Given the description of an element on the screen output the (x, y) to click on. 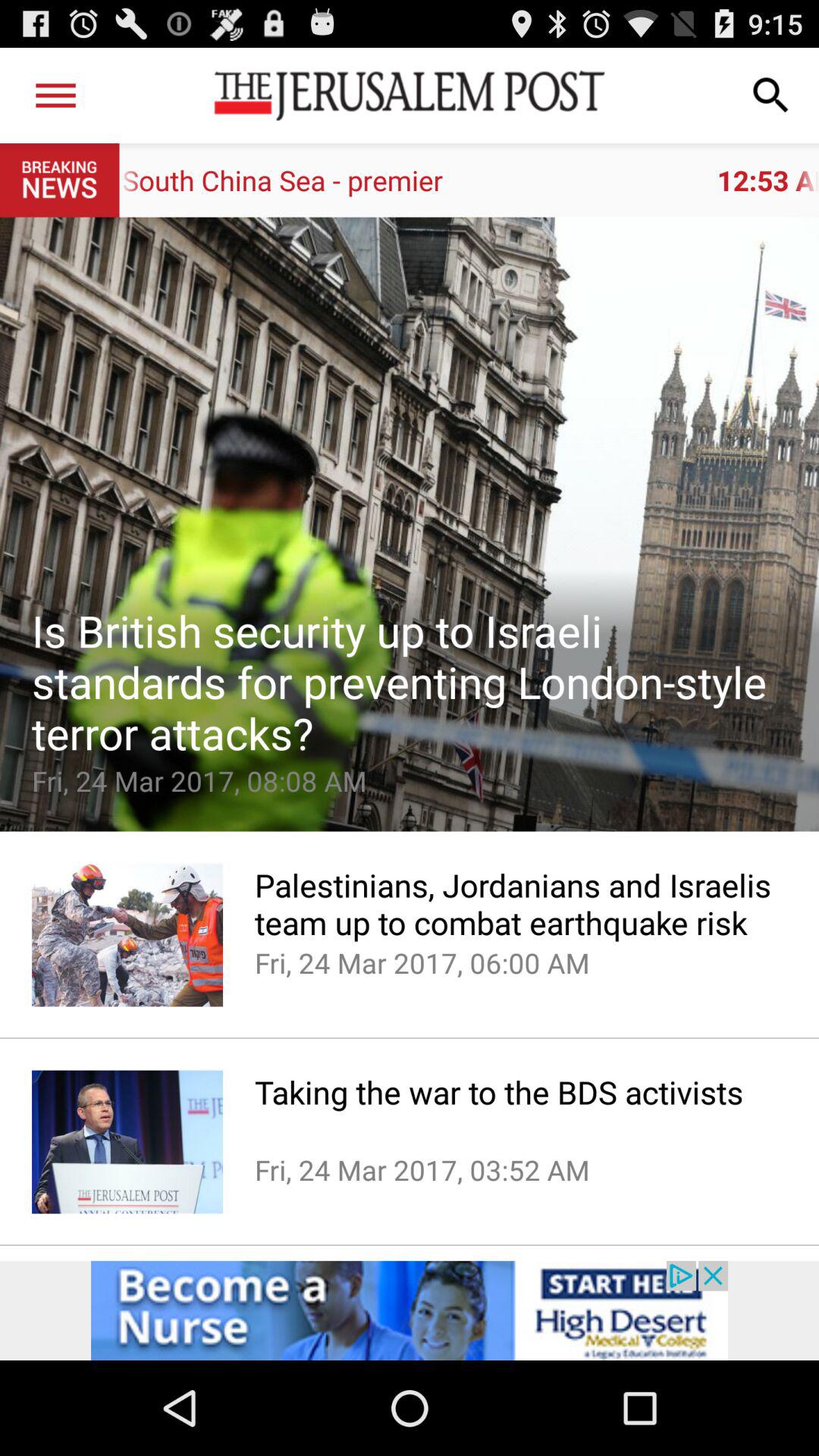
emoji option (409, 524)
